Given the description of an element on the screen output the (x, y) to click on. 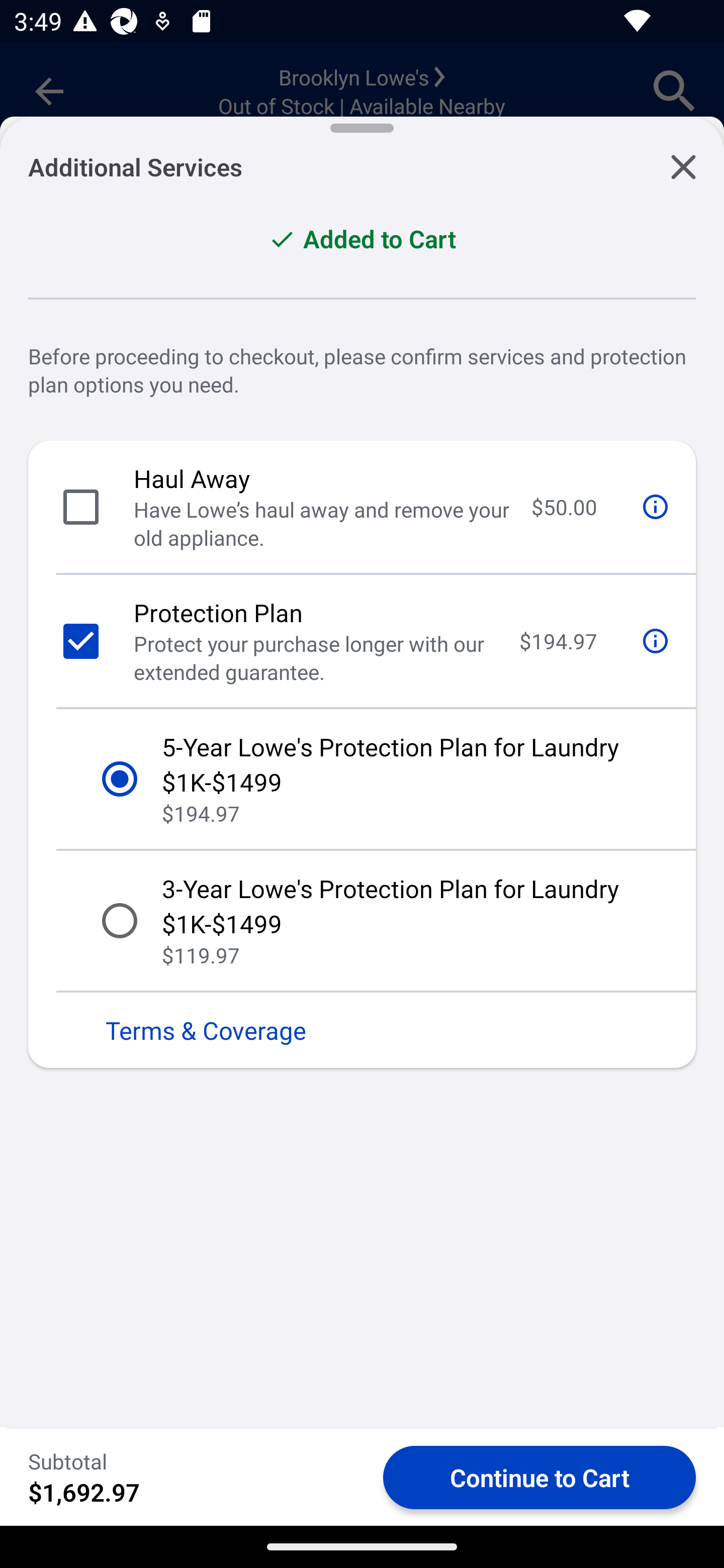
Close (682, 159)
Information (655, 506)
Information (655, 640)
Terms & Coverage (361, 1029)
Continue to Cart (538, 1476)
